Given the description of an element on the screen output the (x, y) to click on. 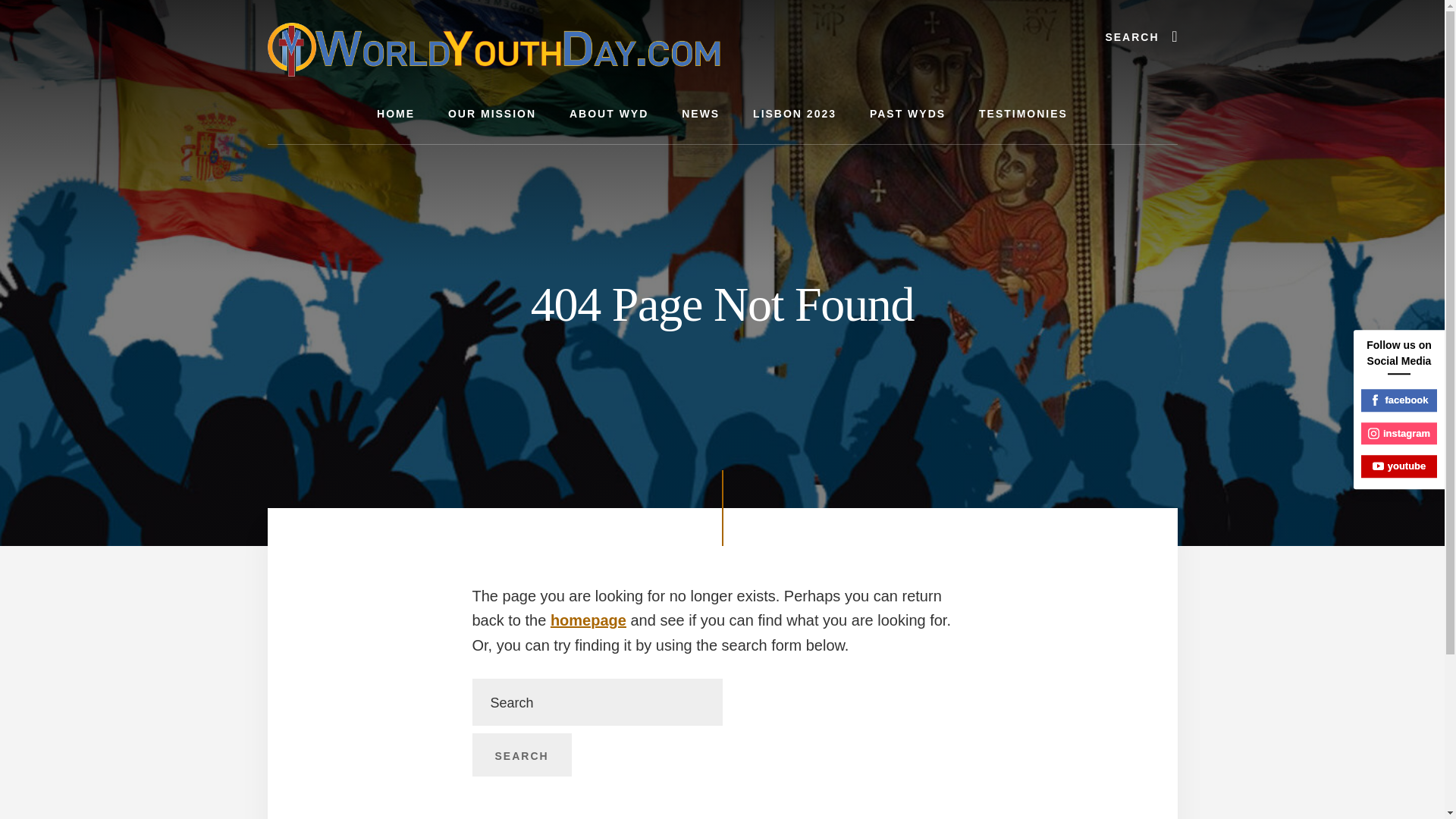
youtube (1399, 466)
OUR MISSION (491, 114)
Search (520, 755)
Search (520, 755)
PAST WYDS (907, 114)
ABOUT WYD (608, 114)
instagram (1399, 433)
HOME (395, 114)
LISBON 2023 (794, 114)
